Given the description of an element on the screen output the (x, y) to click on. 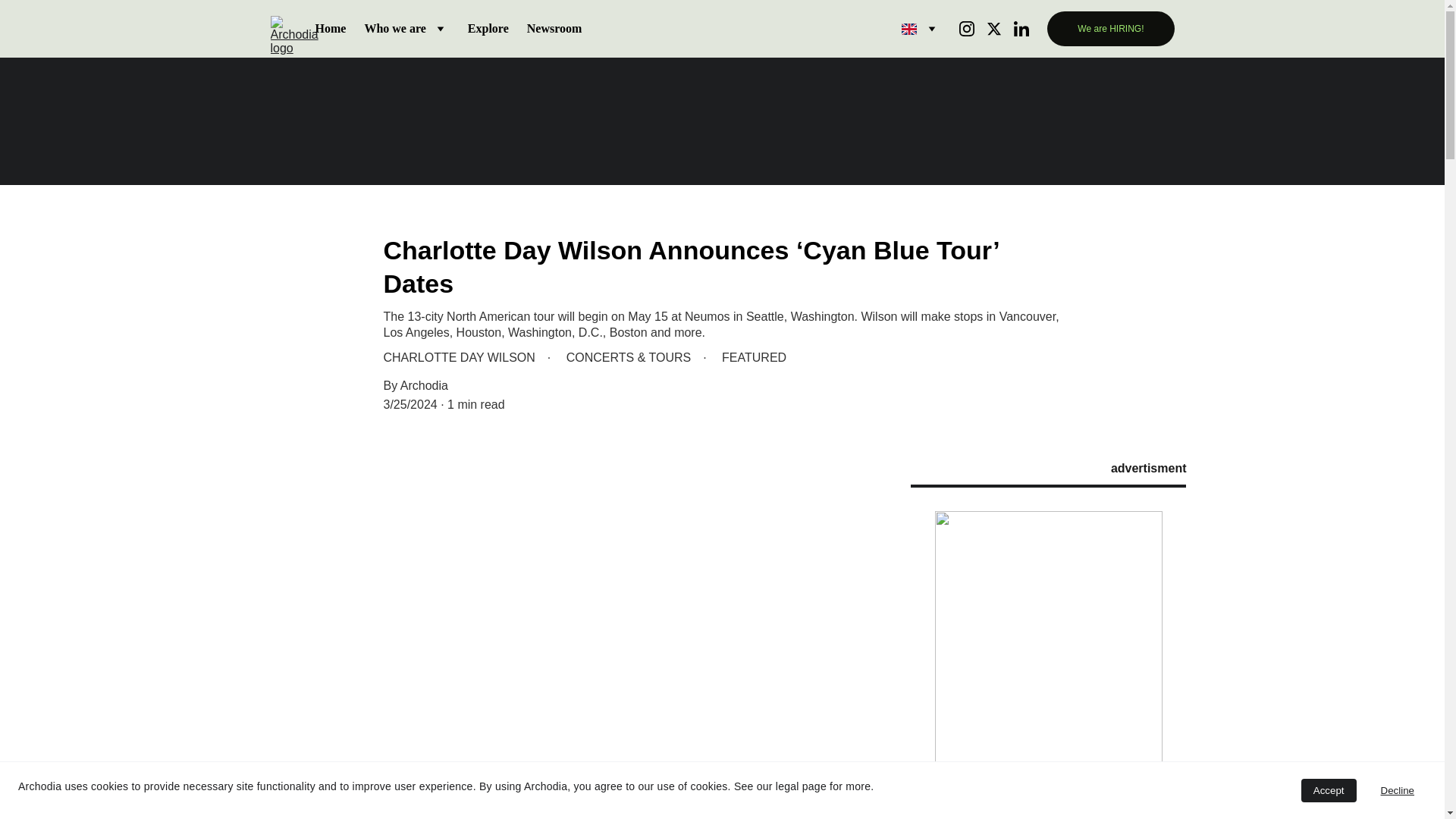
custom code element (1048, 665)
Explore (487, 28)
custom code element (721, 122)
Home (330, 28)
We are HIRING! (1109, 28)
Newsroom (554, 28)
